Given the description of an element on the screen output the (x, y) to click on. 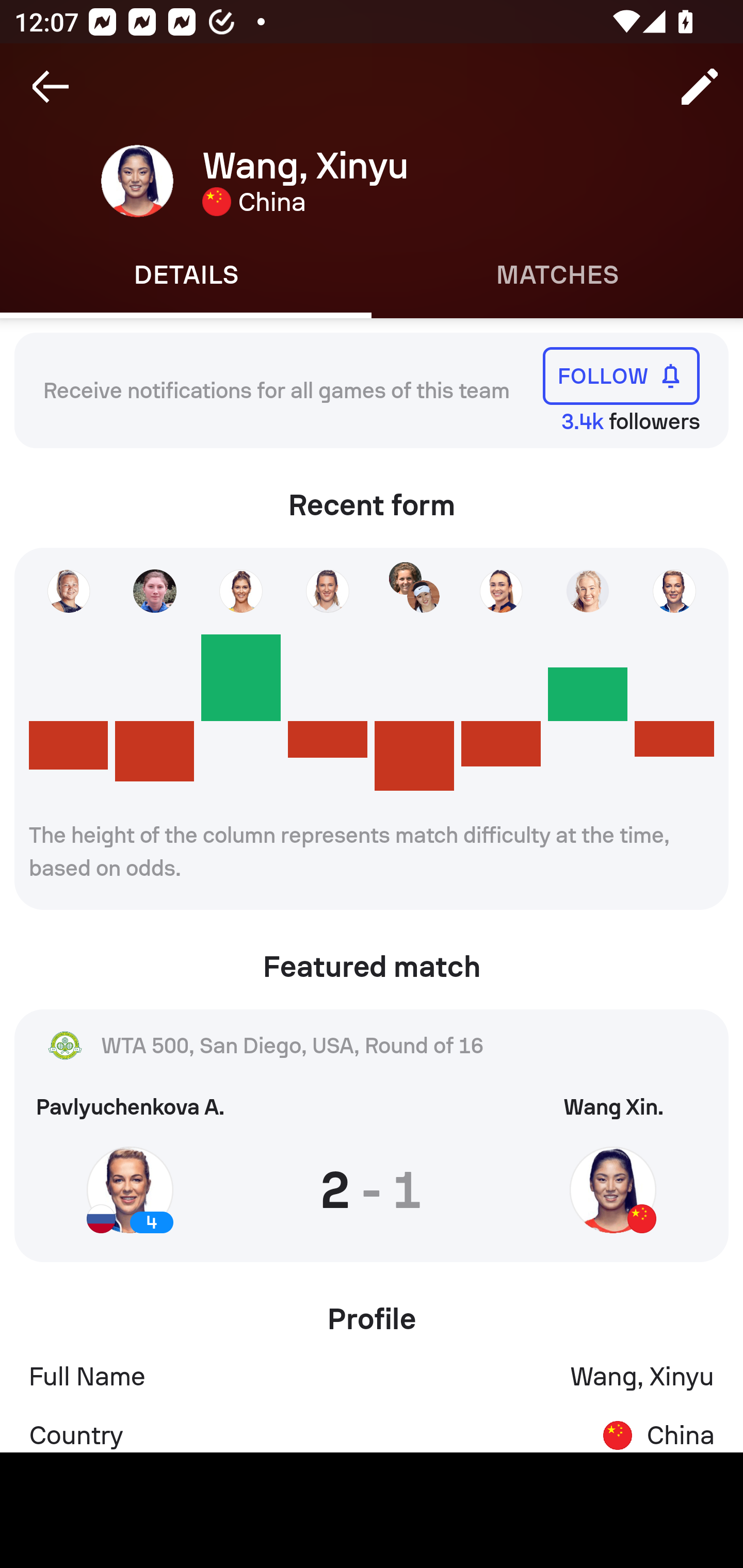
Navigate up (50, 86)
Edit (699, 86)
Matches MATCHES (557, 275)
FOLLOW (621, 375)
